Given the description of an element on the screen output the (x, y) to click on. 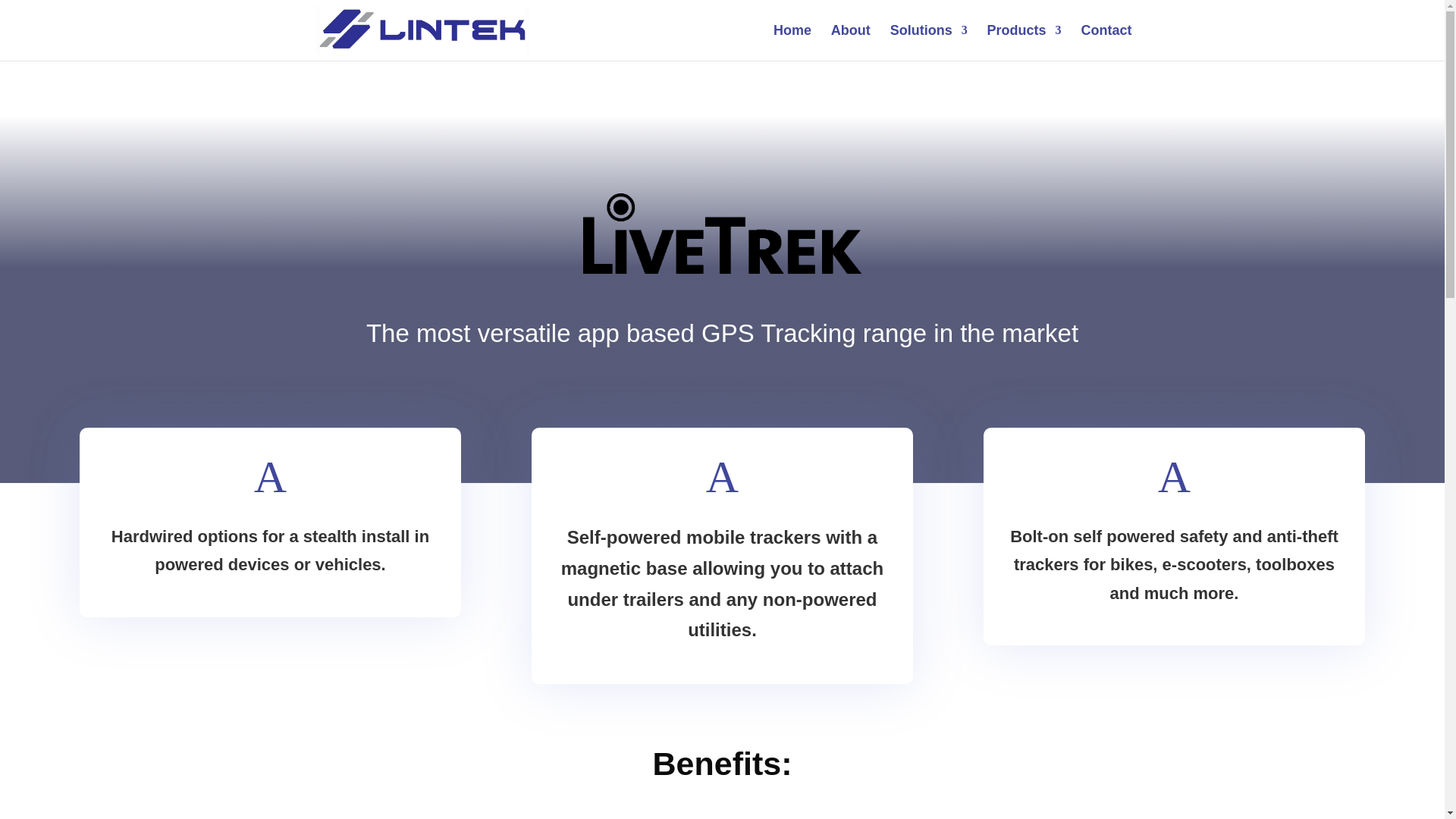
Products (1024, 42)
Home (791, 42)
Contact (1106, 42)
About (850, 42)
Solutions (928, 42)
